Given the description of an element on the screen output the (x, y) to click on. 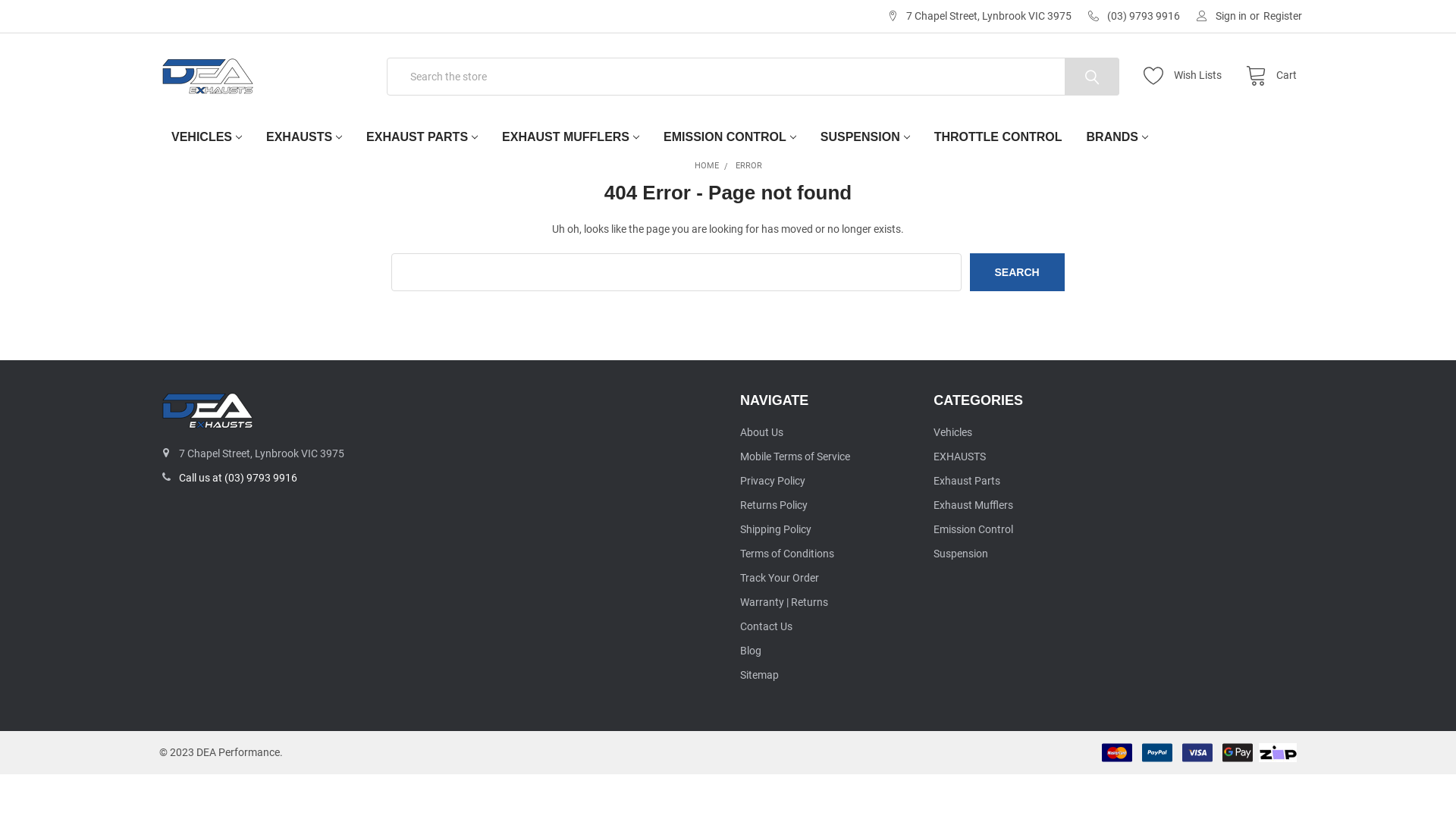
EXHAUSTS Element type: text (304, 136)
Vehicles Element type: text (952, 432)
About Us Element type: text (761, 432)
Warranty | Returns Element type: text (784, 602)
Returns Policy Element type: text (773, 504)
Search Element type: text (1016, 272)
Blog Element type: text (750, 650)
Suspension Element type: text (960, 553)
Terms of Conditions Element type: text (787, 553)
EXHAUST PARTS Element type: text (421, 136)
Top of Page Element type: hover (1428, 697)
THROTTLE CONTROL Element type: text (998, 136)
Shipping Policy Element type: text (775, 529)
BRANDS Element type: text (1117, 136)
Wish Lists Element type: text (1186, 75)
Register Element type: text (1282, 16)
Call us at (03) 9793 9916 Element type: text (237, 477)
Privacy Policy Element type: text (772, 480)
Cart Element type: text (1266, 75)
Sign in Element type: text (1221, 16)
SUSPENSION Element type: text (865, 136)
Mobile Terms of Service Element type: text (795, 456)
HOME Element type: text (706, 165)
Sitemap Element type: text (759, 674)
DEA Performance Element type: hover (207, 410)
VEHICLES Element type: text (206, 136)
ERROR Element type: text (748, 165)
Search Element type: text (1074, 76)
Track Your Order Element type: text (779, 577)
(03) 9793 9916 Element type: text (1133, 16)
EXHAUST MUFFLERS Element type: text (570, 136)
Contact Us Element type: text (766, 626)
DEA Performance Element type: hover (207, 76)
Exhaust Mufflers Element type: text (973, 504)
Emission Control Element type: text (973, 529)
EMISSION CONTROL Element type: text (729, 136)
EXHAUSTS Element type: text (959, 456)
Exhaust Parts Element type: text (966, 480)
